Given the description of an element on the screen output the (x, y) to click on. 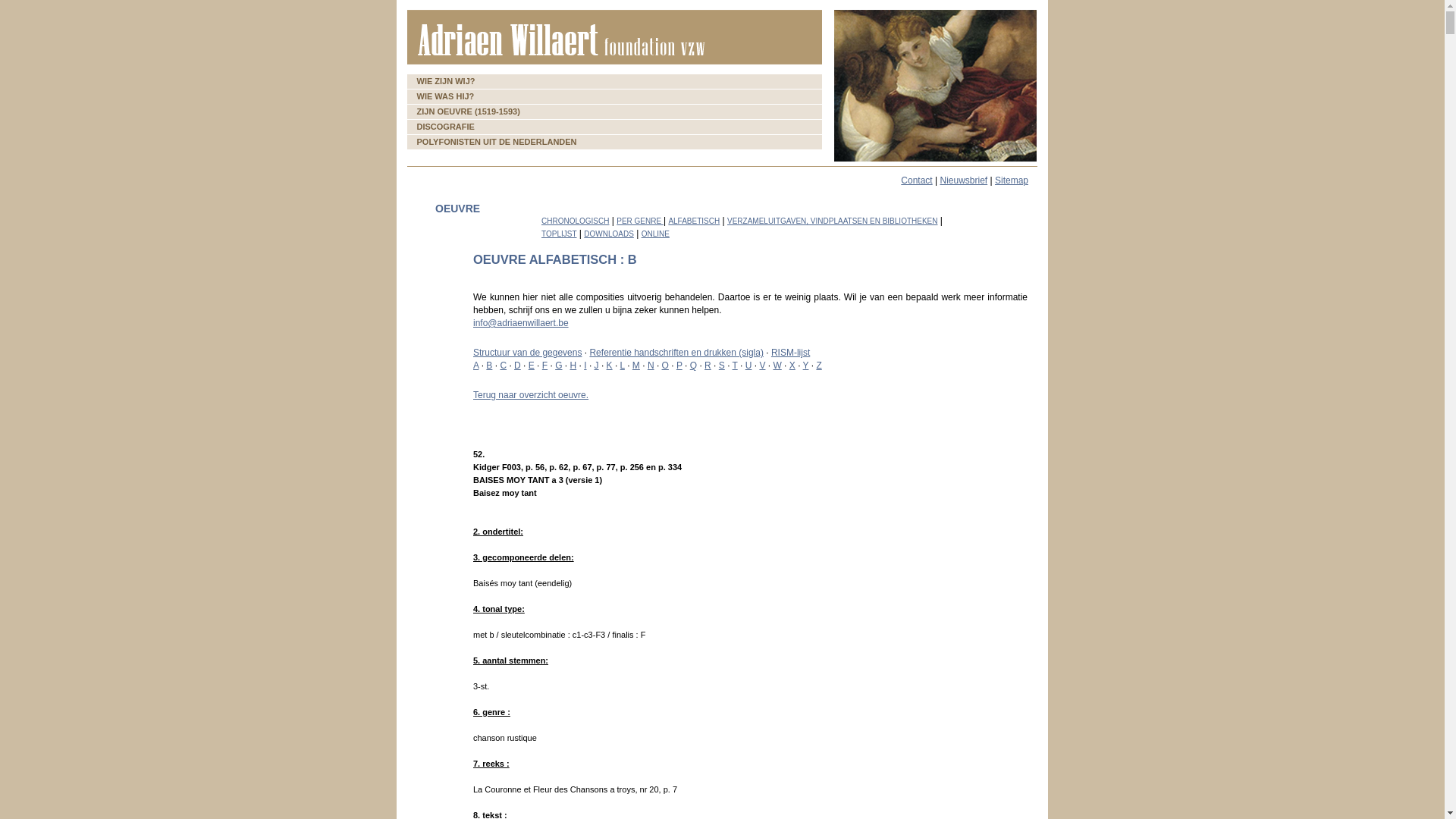
O Element type: text (665, 365)
DOWNLOADS Element type: text (608, 233)
T Element type: text (734, 365)
I Element type: text (584, 365)
Referentie handschriften en drukken (sigla) Element type: text (675, 352)
Terug naar overzicht oeuvre. Element type: text (530, 394)
info@adriaenwillaert.be Element type: text (520, 322)
F Element type: text (544, 365)
R Element type: text (707, 365)
ALFABETISCH Element type: text (693, 220)
POLYFONISTEN UIT DE NEDERLANDEN Element type: text (614, 141)
RISM-lijst Element type: text (790, 352)
PER GENRE Element type: text (639, 220)
P Element type: text (679, 365)
Sitemap Element type: text (1011, 180)
M Element type: text (636, 365)
Nieuwsbrief Element type: text (963, 180)
H Element type: text (573, 365)
Structuur van de gegevens Element type: text (527, 352)
DISCOGRAFIE Element type: text (614, 126)
Z Element type: text (818, 365)
W Element type: text (776, 365)
C Element type: text (502, 365)
B Element type: text (489, 365)
Q Element type: text (693, 365)
TOPLIJST Element type: text (559, 233)
G Element type: text (558, 365)
ONLINE Element type: text (655, 233)
K Element type: text (609, 365)
S Element type: text (721, 365)
Logo van de Adriaen Willaert Foundation vzw Element type: hover (614, 36)
Y Element type: text (806, 365)
V Element type: text (762, 365)
WIE WAS HIJ? Element type: text (614, 96)
L Element type: text (622, 365)
A Element type: text (475, 365)
X Element type: text (792, 365)
D Element type: text (517, 365)
VERZAMELUITGAVEN, VINDPLAATSEN EN BIBLIOTHEKEN Element type: text (832, 220)
N Element type: text (650, 365)
Contact Element type: text (915, 180)
U Element type: text (748, 365)
E Element type: text (531, 365)
WIE ZIJN WIJ? Element type: text (614, 81)
ZIJN OEUVRE (1519-1593) Element type: text (614, 111)
J Element type: text (596, 365)
CHRONOLOGISCH Element type: text (574, 220)
